Given the description of an element on the screen output the (x, y) to click on. 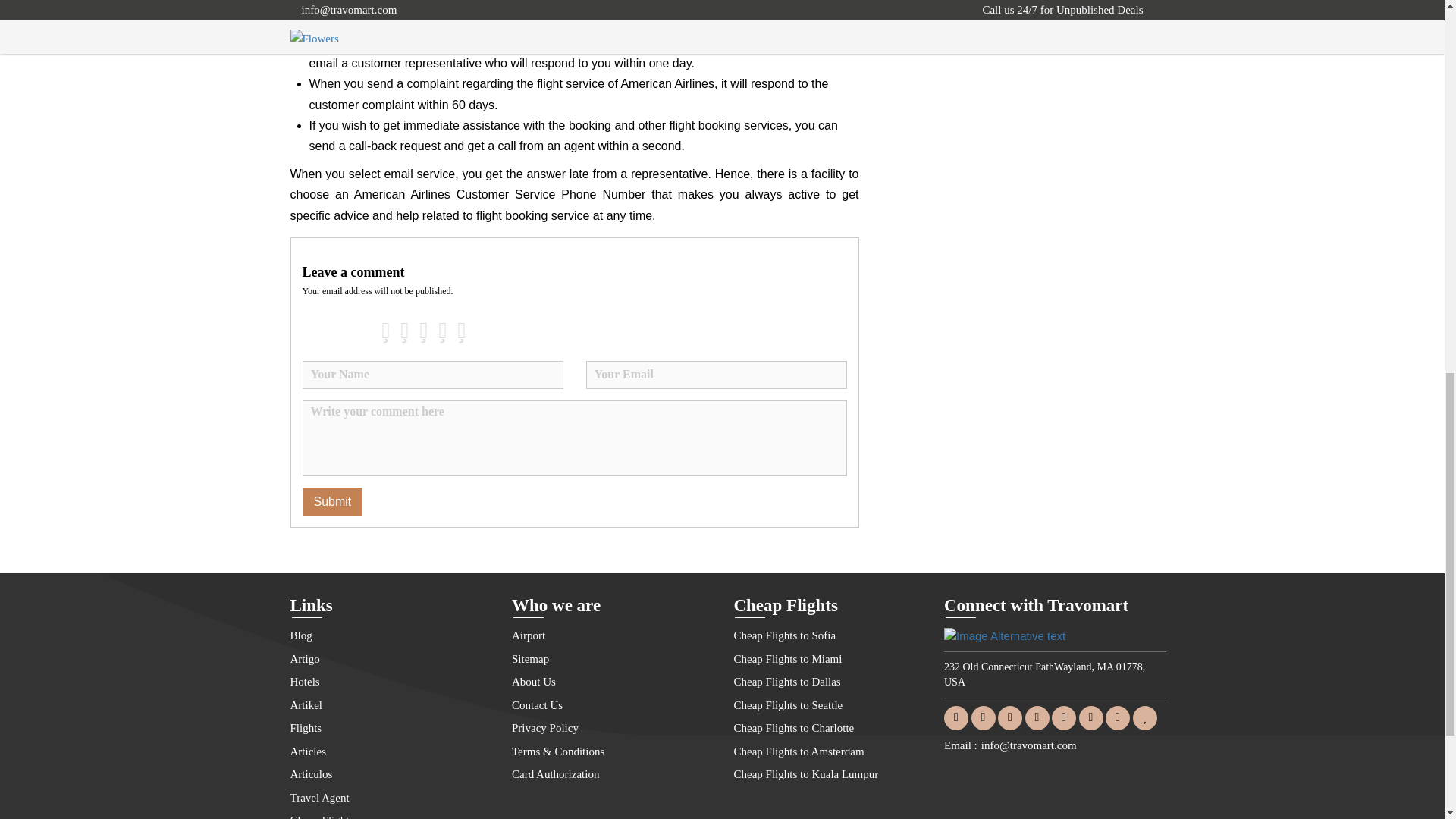
Cheap Flights to Miami (832, 659)
Twitter (982, 717)
Submit (331, 501)
Privacy Policy (611, 728)
Cheap Flights (388, 815)
Cheap Flights to Dallas (832, 682)
Sitemap (611, 659)
Articulos (388, 774)
About Us (611, 682)
Card Authorization (611, 774)
